Given the description of an element on the screen output the (x, y) to click on. 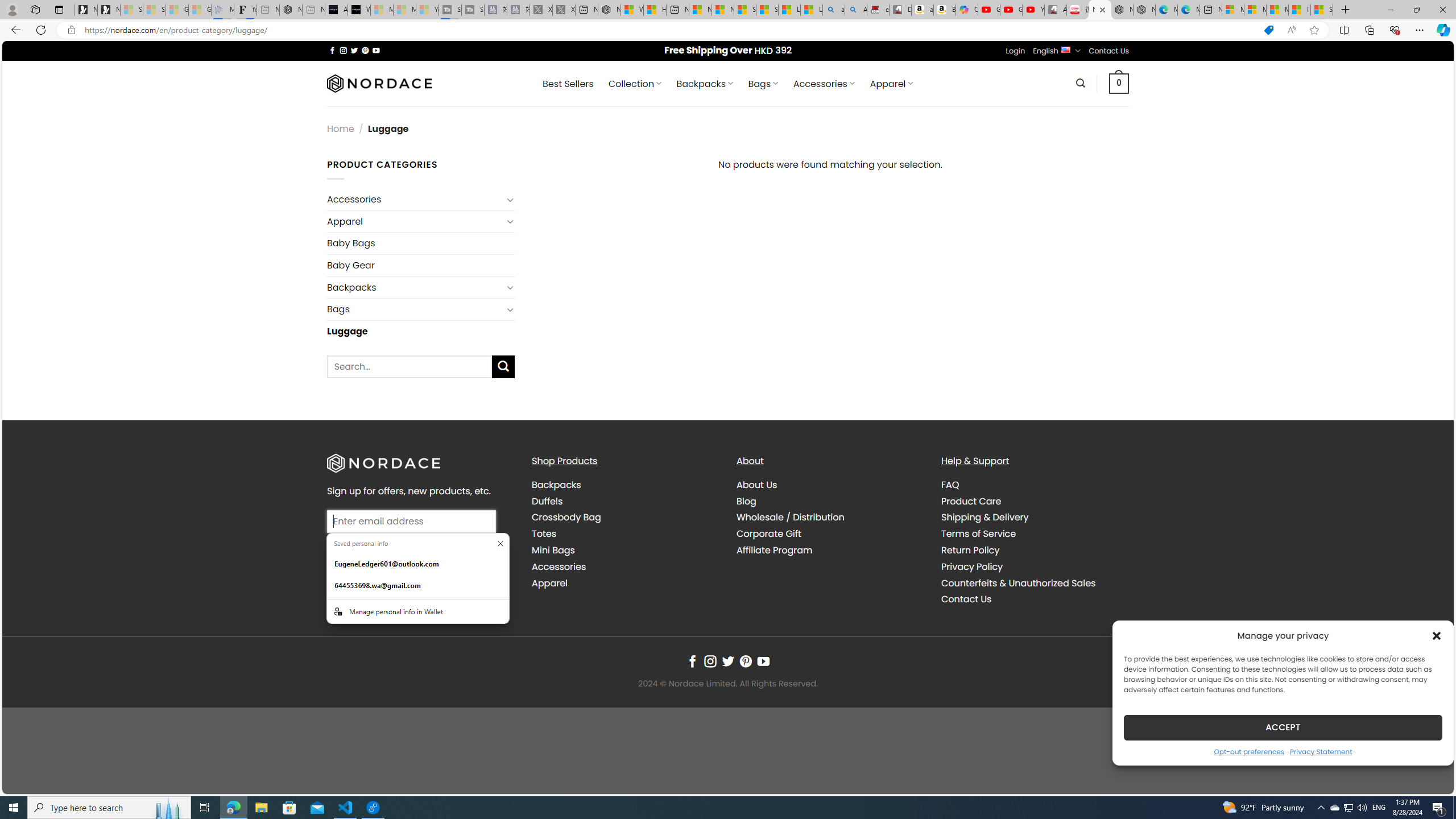
Opt-out preferences (1249, 750)
  Best Sellers (568, 83)
Shipping & Delivery (984, 517)
FAQ (1034, 484)
Follow on Facebook (691, 661)
Collections (1369, 29)
Terms of Service (978, 533)
Contact Us (1034, 599)
  0   (1118, 83)
Affiliate Program (774, 550)
Duffels (625, 501)
Apparel (549, 582)
Totes (543, 533)
